Given the description of an element on the screen output the (x, y) to click on. 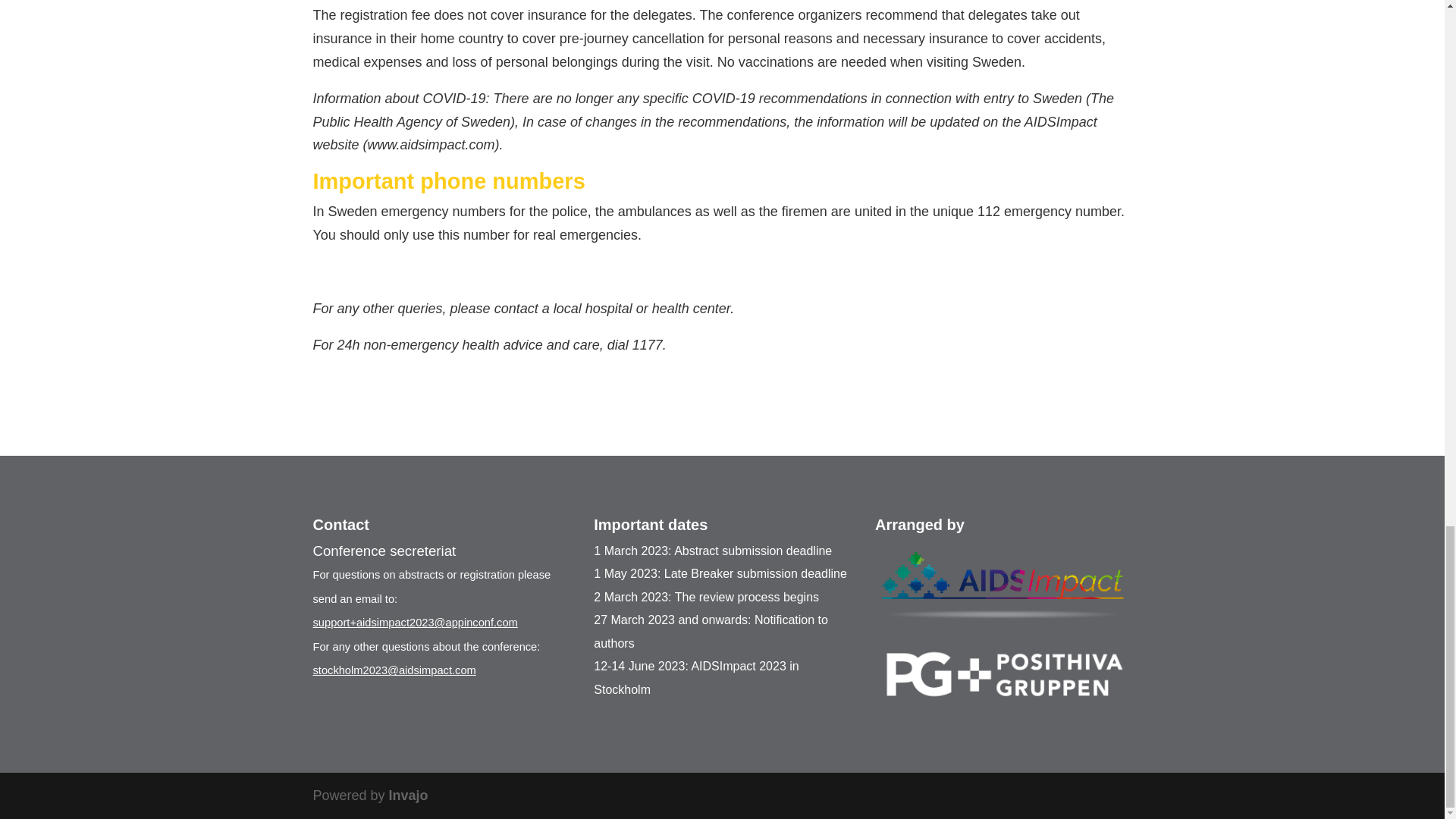
AIDSImpact (1003, 589)
